Given the description of an element on the screen output the (x, y) to click on. 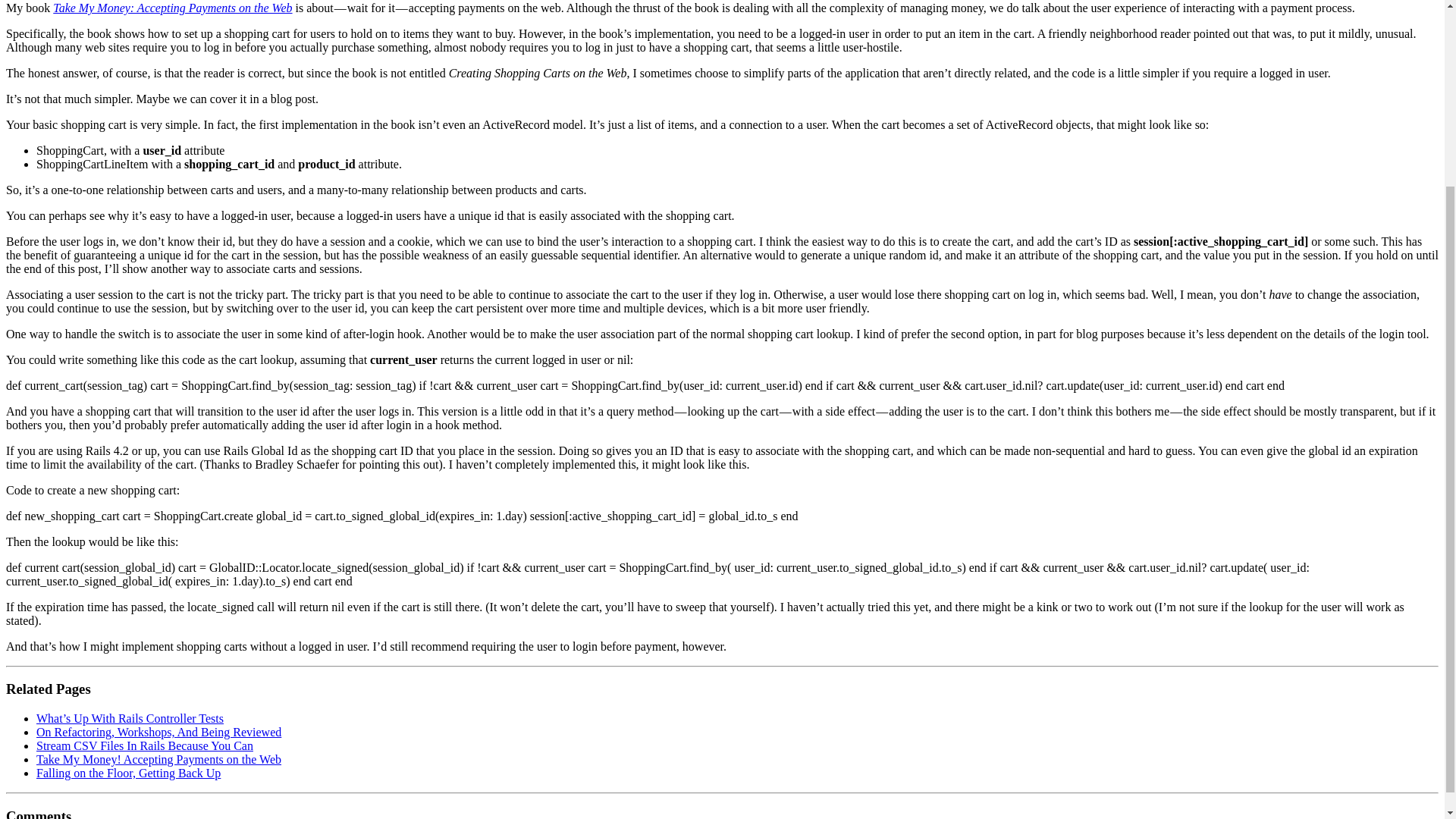
Take My Money! Accepting Payments on the Web (158, 758)
On Refactoring, Workshops, And Being Reviewed (158, 731)
Falling on the Floor, Getting Back Up (128, 772)
Take My Money: Accepting Payments on the Web (172, 7)
Stream CSV Files In Rails Because You Can (144, 745)
